Given the description of an element on the screen output the (x, y) to click on. 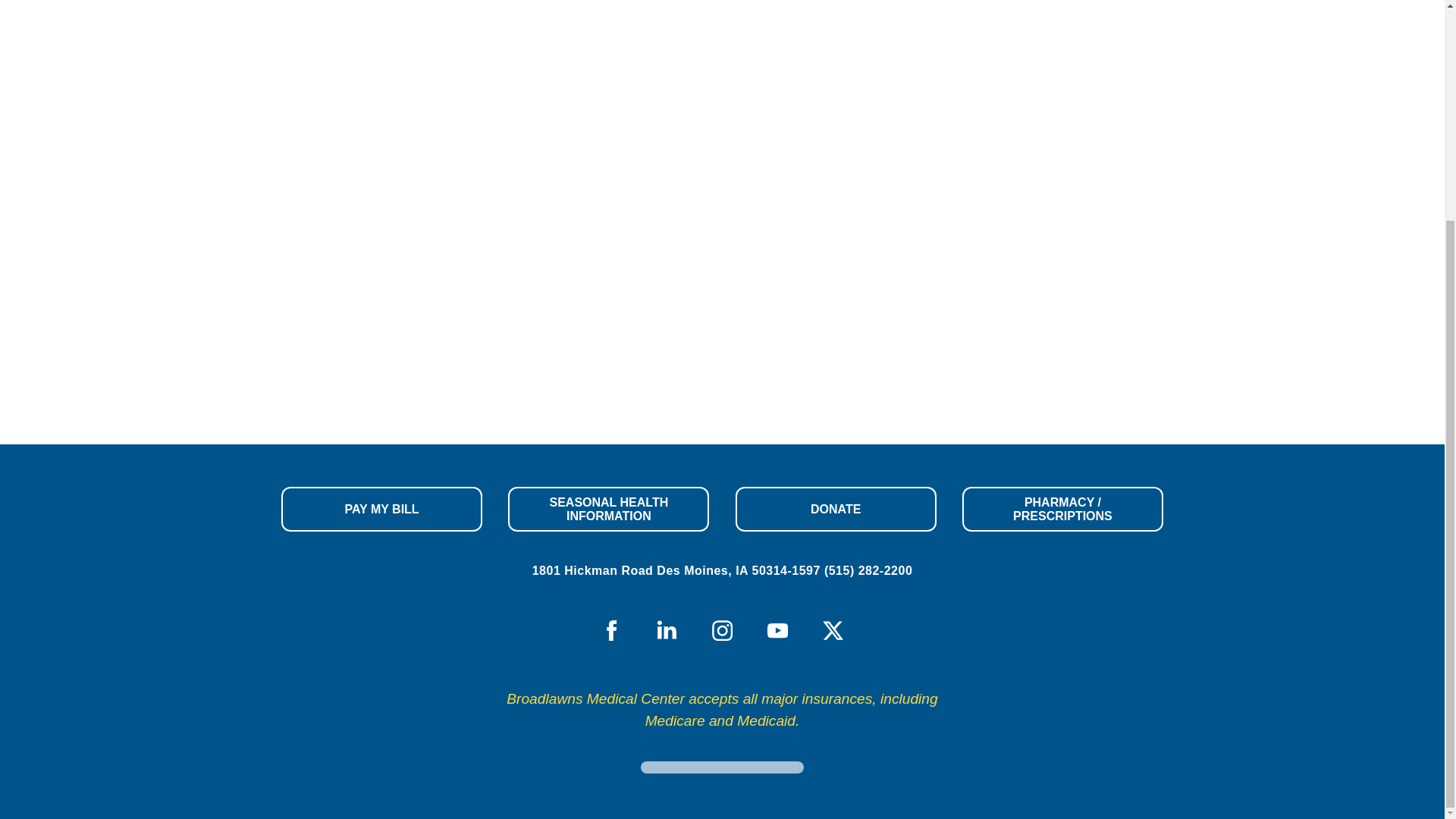
facebook link (611, 630)
youtube link (777, 630)
twitter link (832, 630)
linkedin Link (666, 630)
instagram link (721, 630)
